Given the description of an element on the screen output the (x, y) to click on. 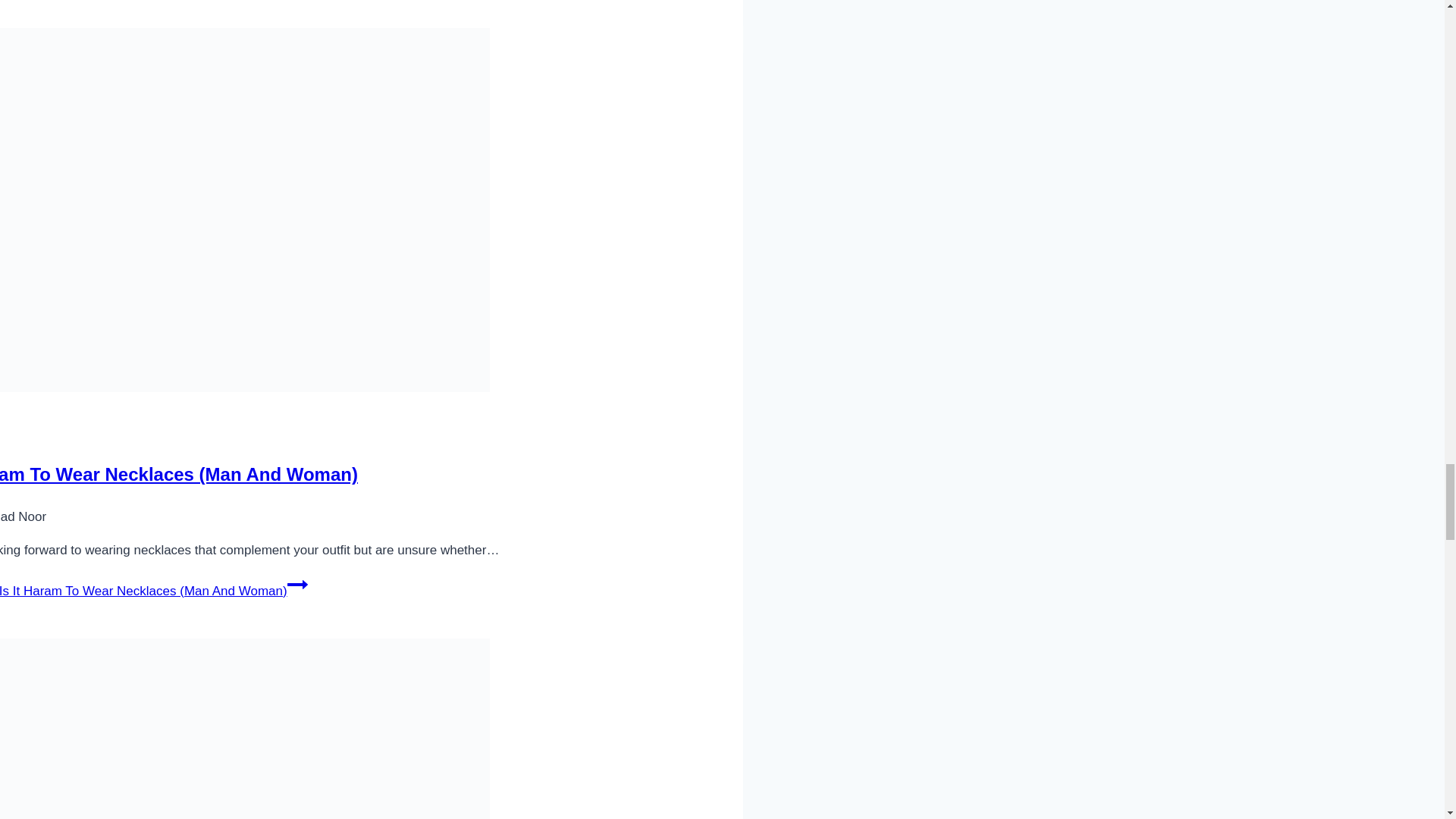
Continue (296, 584)
